Given the description of an element on the screen output the (x, y) to click on. 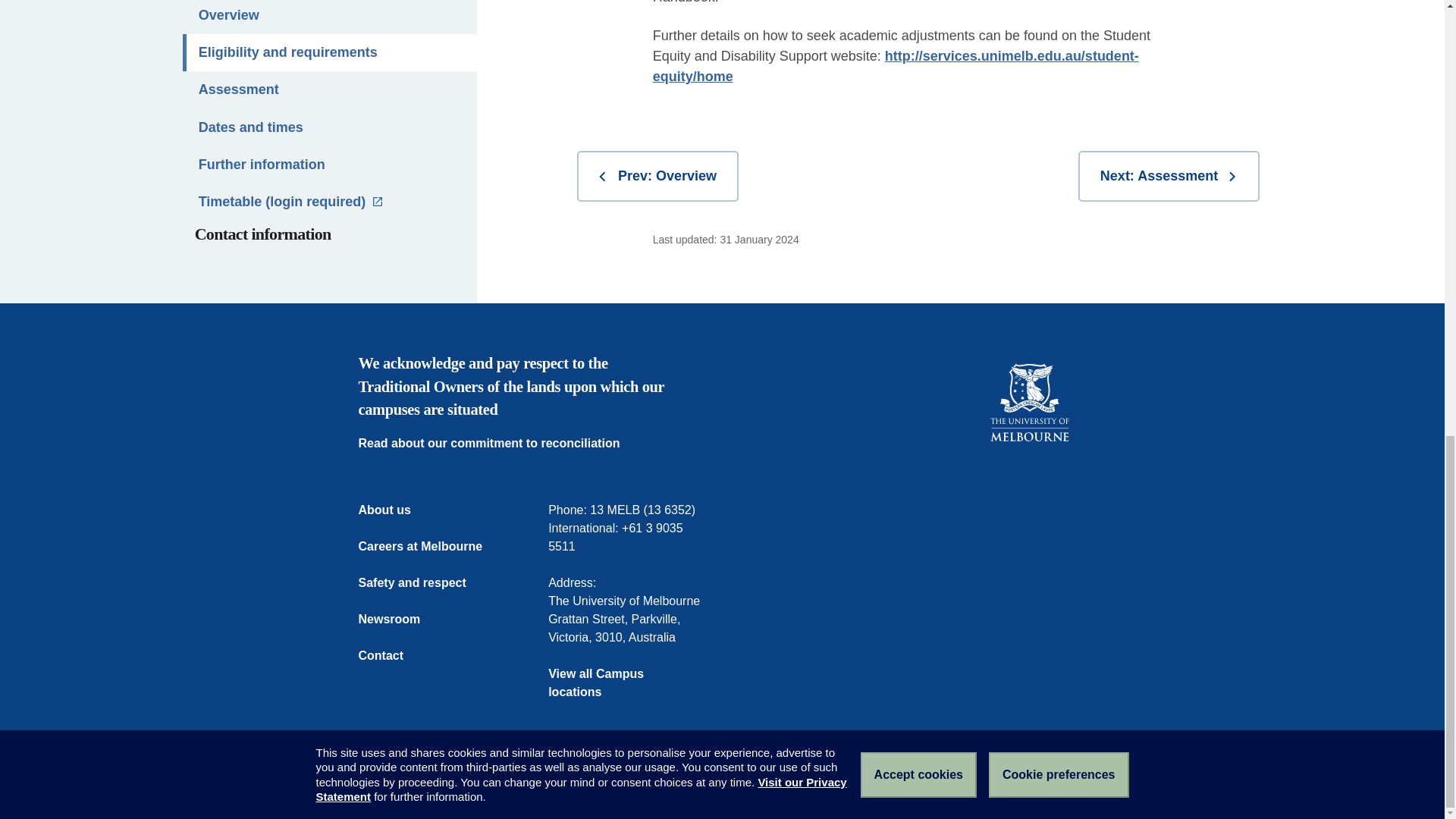
Read about our commitment to reconciliation (498, 443)
About us (393, 510)
Next: Assessment (1168, 175)
Contact (390, 656)
Careers at Melbourne (429, 546)
Prev: Overview (657, 175)
Safety and respect (421, 583)
VaxFACTS (674, 784)
Privacy (617, 784)
Emergency (386, 784)
Newsroom (398, 619)
View all Campus locations (627, 683)
Accessibility (553, 784)
